Given the description of an element on the screen output the (x, y) to click on. 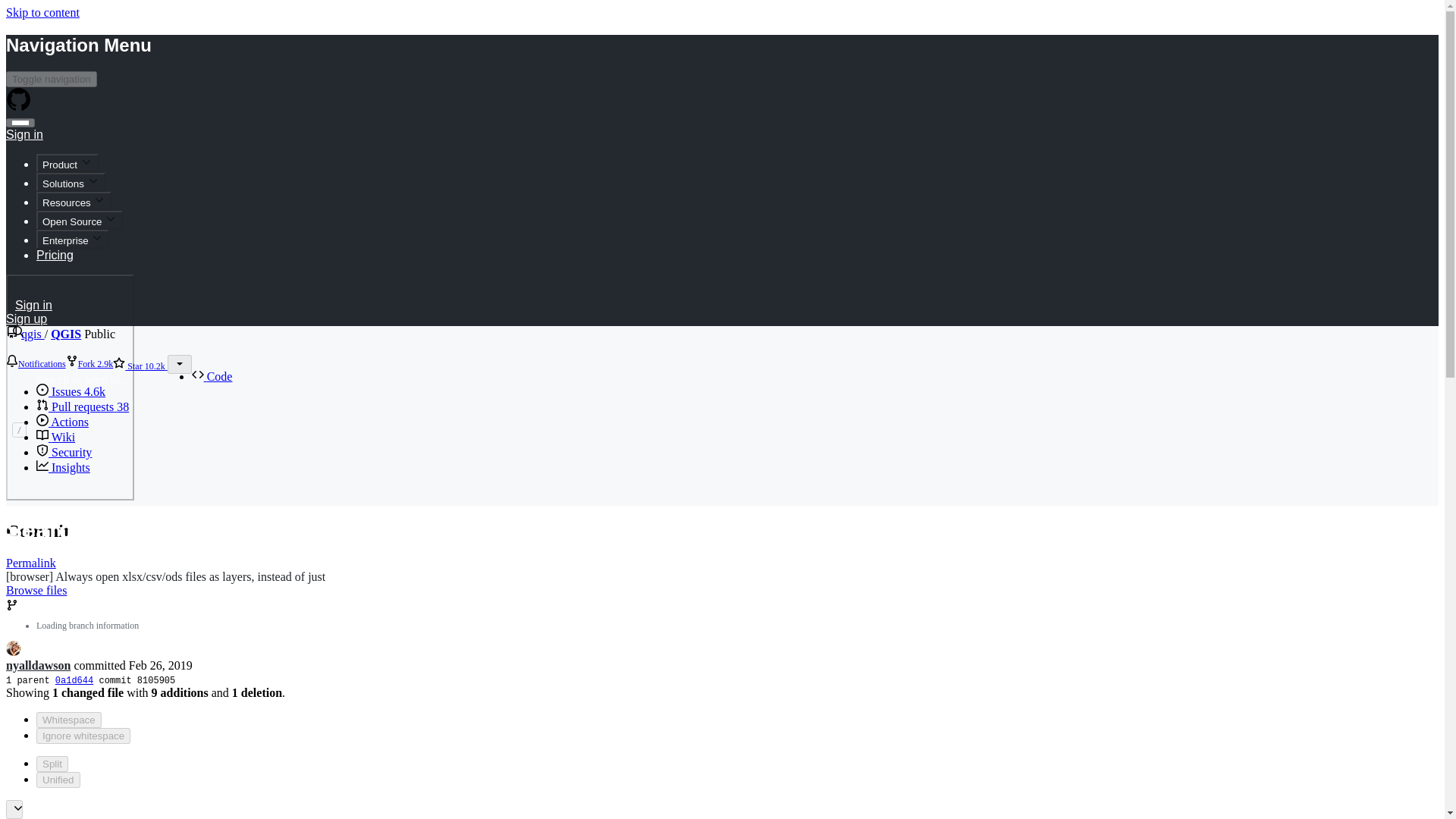
Product (67, 162)
2,938 (105, 363)
Solutions (70, 181)
Sign in (24, 132)
10,174 (154, 366)
View all commits by nyalldawson (37, 665)
Open Source (79, 220)
38 (122, 406)
Skip to content (42, 11)
4,585 (94, 391)
Toggle navigation (51, 78)
Resources (74, 200)
